Given the description of an element on the screen output the (x, y) to click on. 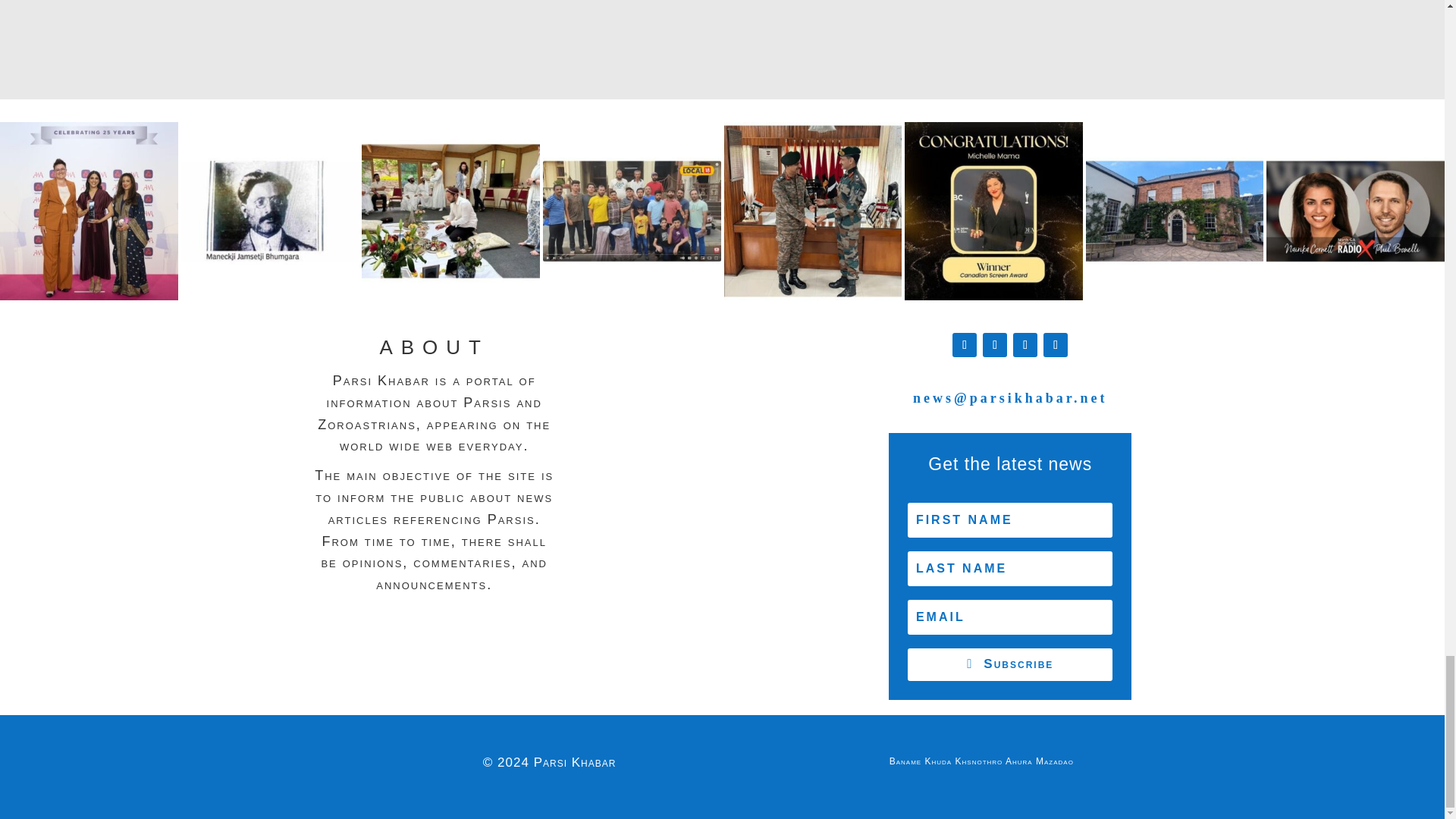
Follow on Instagram (1024, 344)
Follow on Facebook (964, 344)
Follow on Youtube (1055, 344)
Follow on X (994, 344)
